Given the description of an element on the screen output the (x, y) to click on. 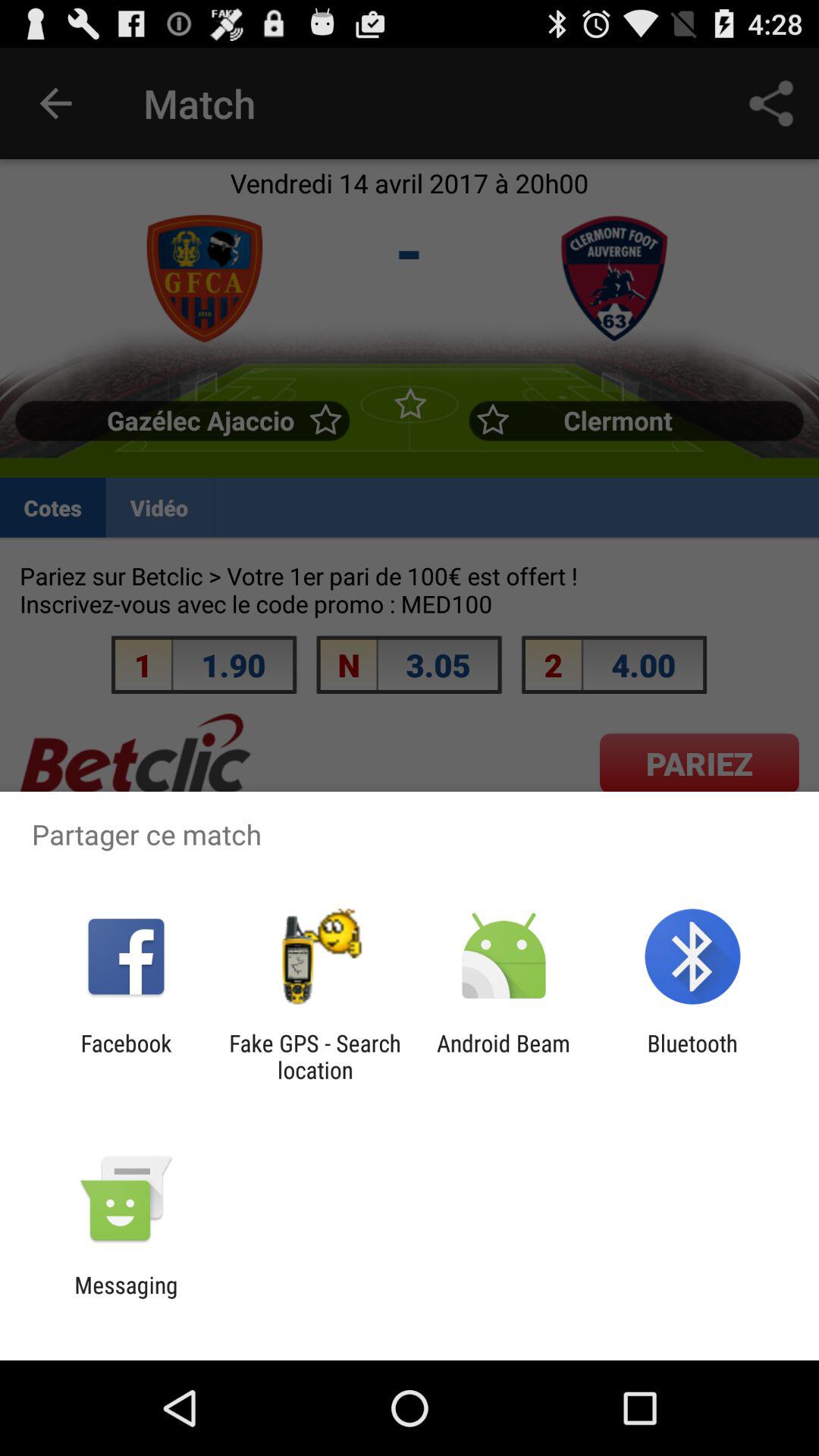
scroll to the bluetooth app (692, 1056)
